Given the description of an element on the screen output the (x, y) to click on. 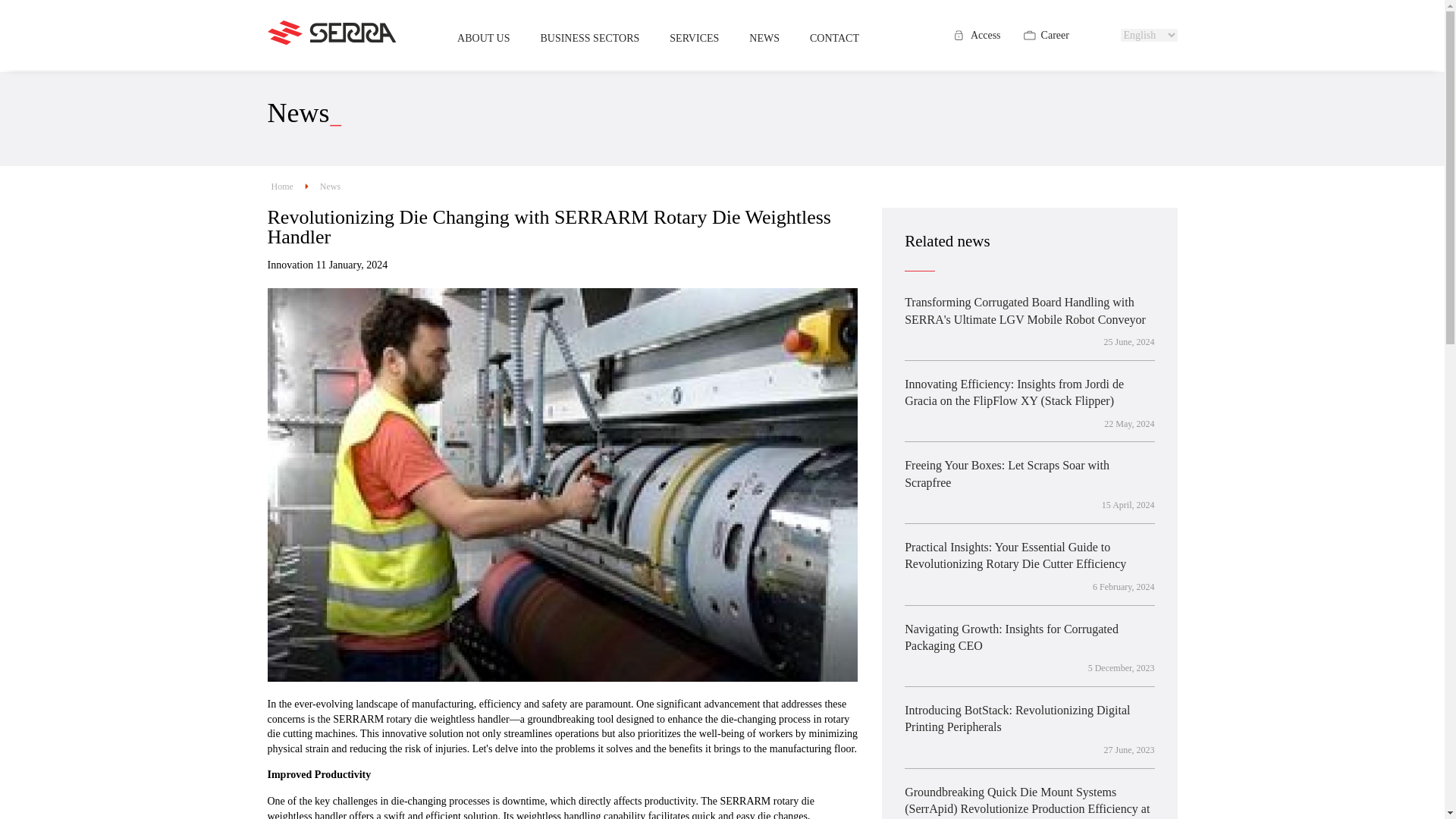
Inicio Serra (331, 42)
ABOUT US (486, 35)
SERVICES (698, 35)
